Given the description of an element on the screen output the (x, y) to click on. 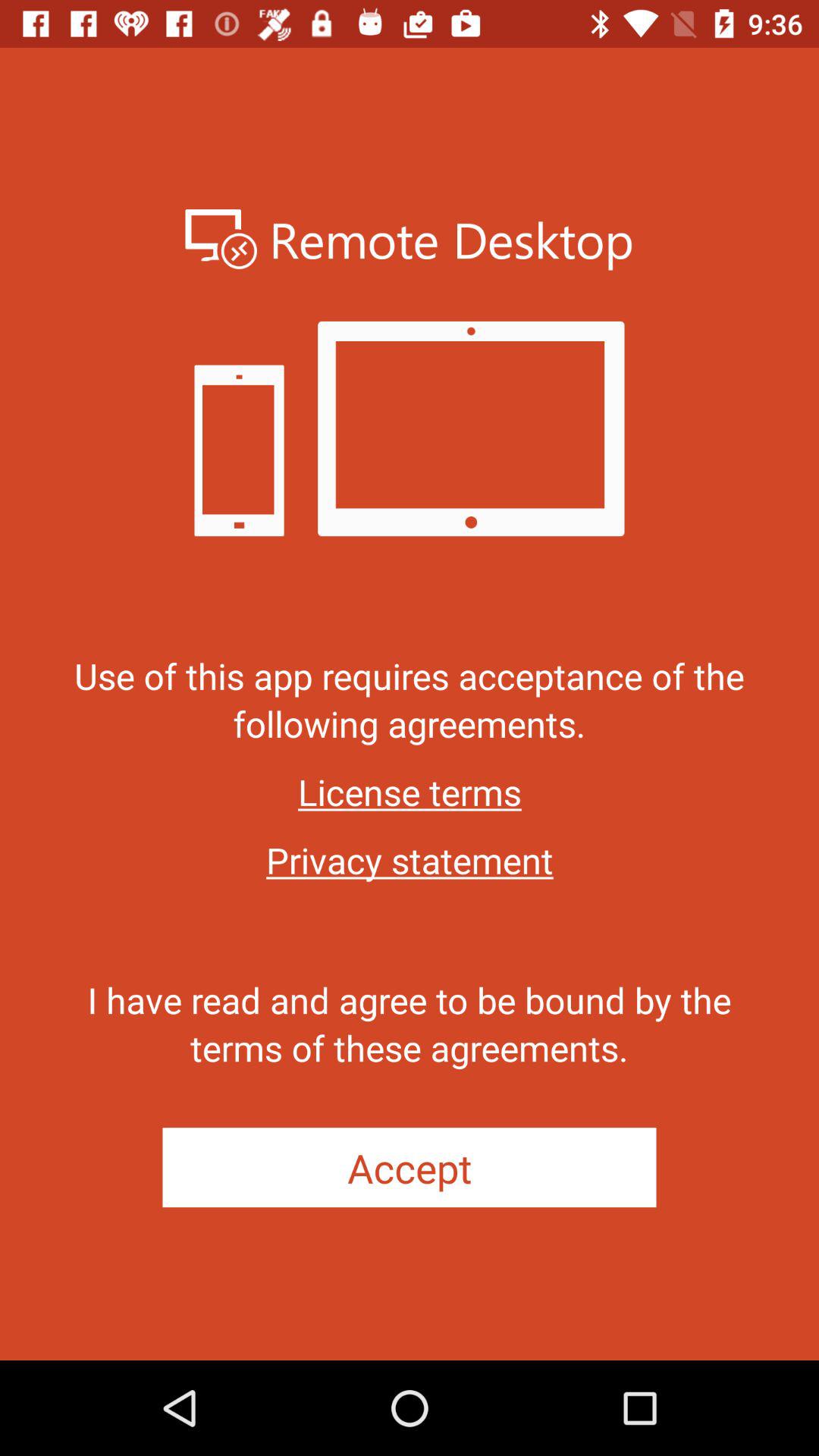
swipe to accept item (409, 1167)
